Given the description of an element on the screen output the (x, y) to click on. 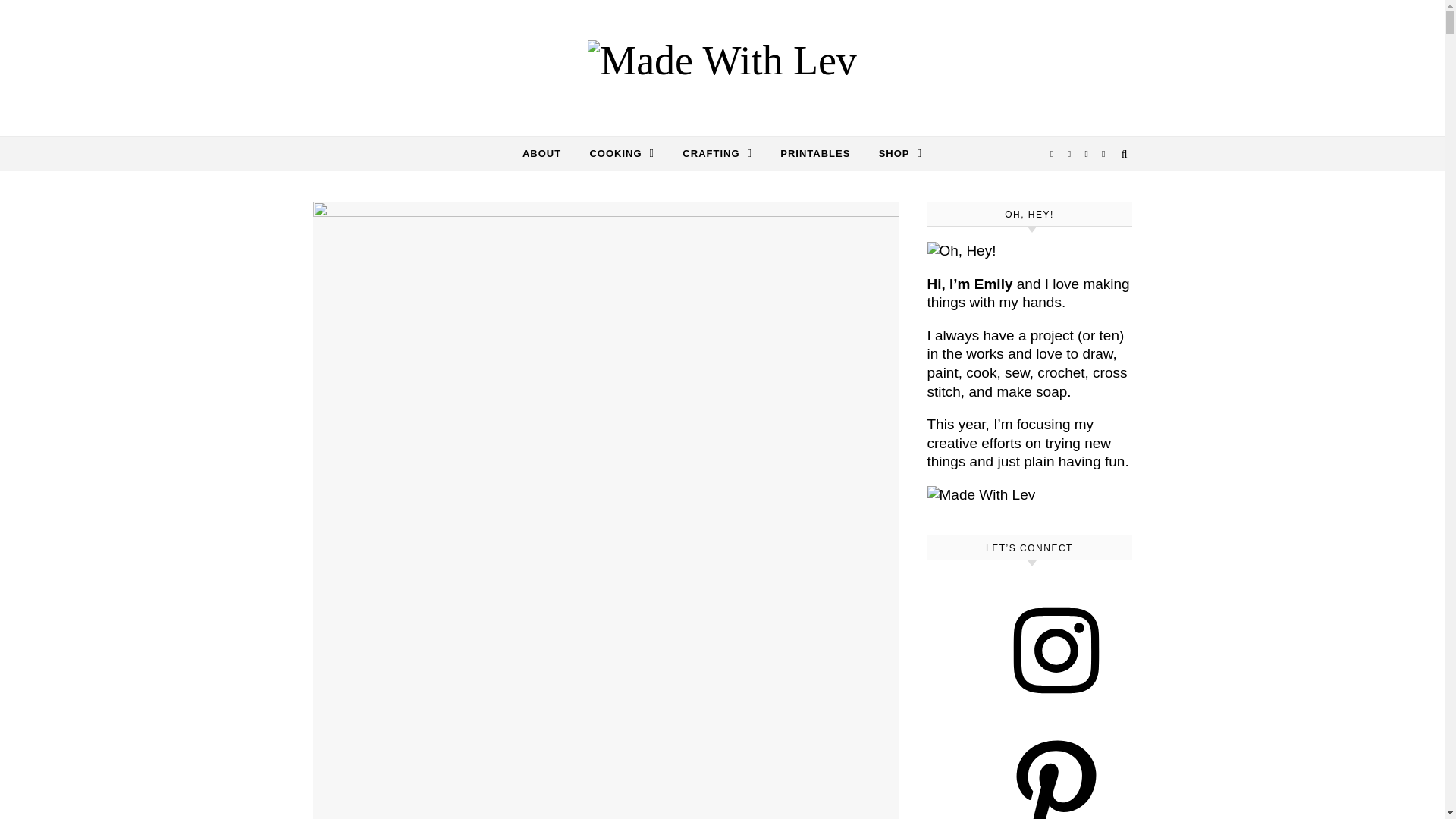
CRAFTING (716, 153)
Made With Lev (722, 60)
ABOUT (547, 153)
COOKING (621, 153)
PRINTABLES (814, 153)
SHOP (893, 153)
